Given the description of an element on the screen output the (x, y) to click on. 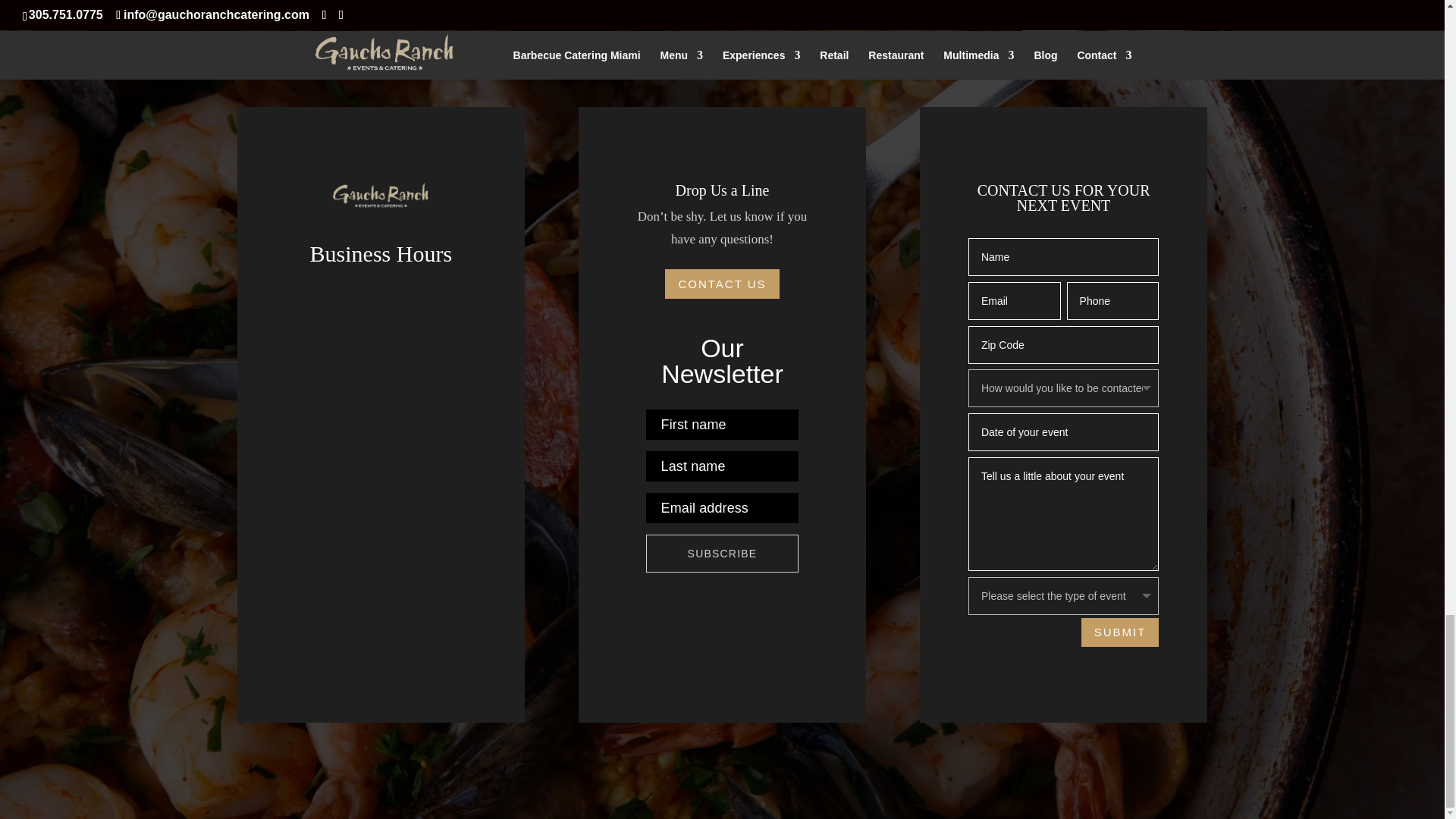
gaucho-catering-logo (380, 197)
